Given the description of an element on the screen output the (x, y) to click on. 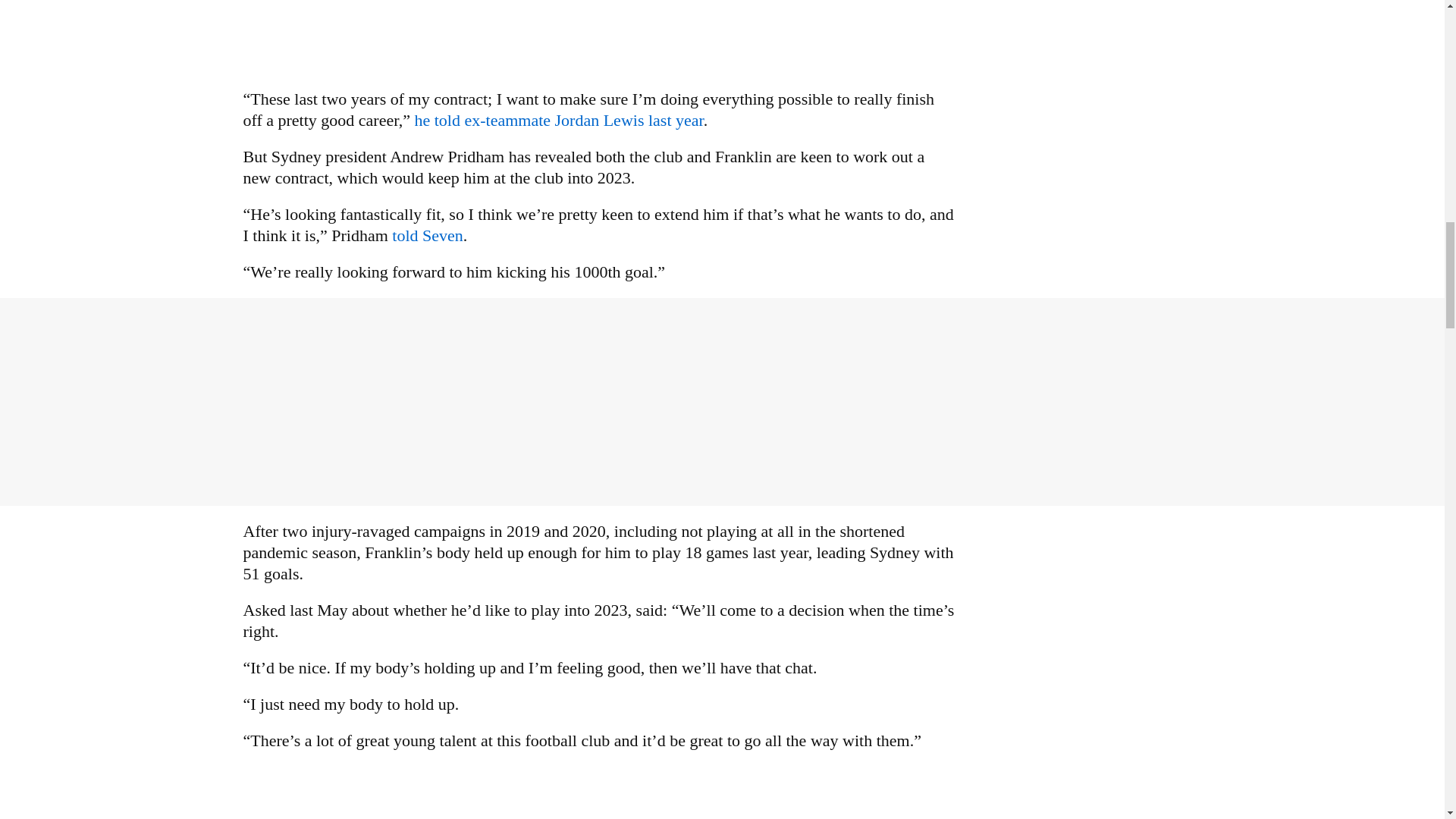
www.foxsports.com.au (558, 119)
told Seven (427, 235)
Minutely (599, 792)
twitter.com (427, 235)
he told ex-teammate Jordan Lewis last year (558, 119)
